Given the description of an element on the screen output the (x, y) to click on. 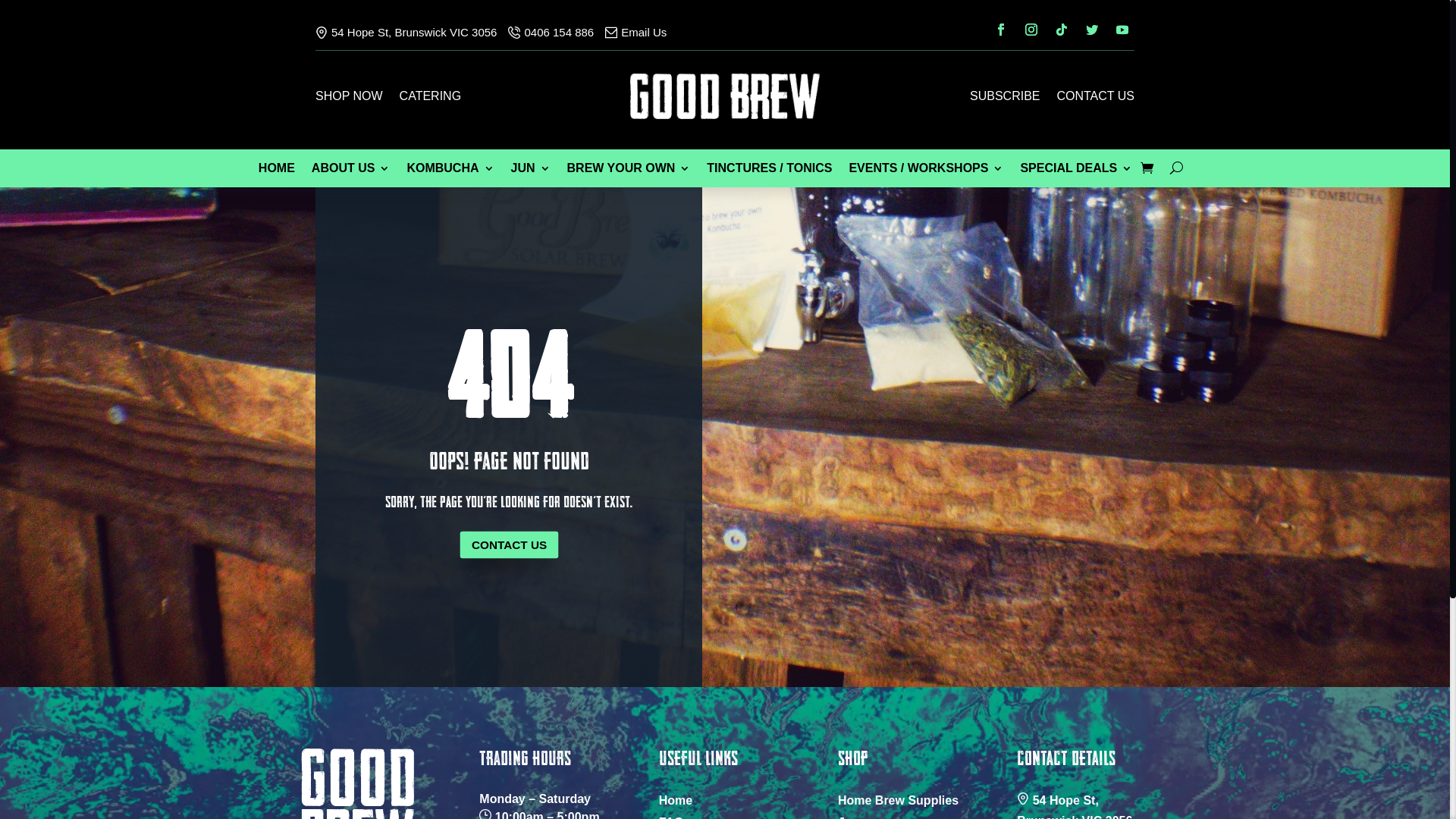
Follow on TikTok Element type: hover (1061, 29)
Follow on Youtube Element type: hover (1122, 29)
Follow on Twitter Element type: hover (1091, 29)
TINCTURES / TONICS Element type: text (768, 171)
SUBSCRIBE Element type: text (1004, 99)
54 Hope St, Brunswick VIC 3056 Element type: text (405, 32)
Home Brew Supplies Element type: text (897, 799)
CATERING Element type: text (430, 99)
HOME Element type: text (276, 171)
0406 154 886 Element type: text (550, 32)
Follow on Instagram Element type: hover (1031, 29)
KOMBUCHA Element type: text (449, 171)
SPECIAL DEALS Element type: text (1075, 171)
ABOUT US Element type: text (350, 171)
CONTACT US Element type: text (507, 544)
JUN Element type: text (530, 171)
Home Element type: text (675, 799)
Email Us Element type: text (635, 32)
goodbrew-logo (2) Element type: hover (724, 96)
BREW YOUR OWN Element type: text (628, 171)
SHOP NOW Element type: text (348, 99)
Follow on Facebook Element type: hover (1000, 29)
CONTACT US Element type: text (1095, 99)
EVENTS / WORKSHOPS Element type: text (925, 171)
